Given the description of an element on the screen output the (x, y) to click on. 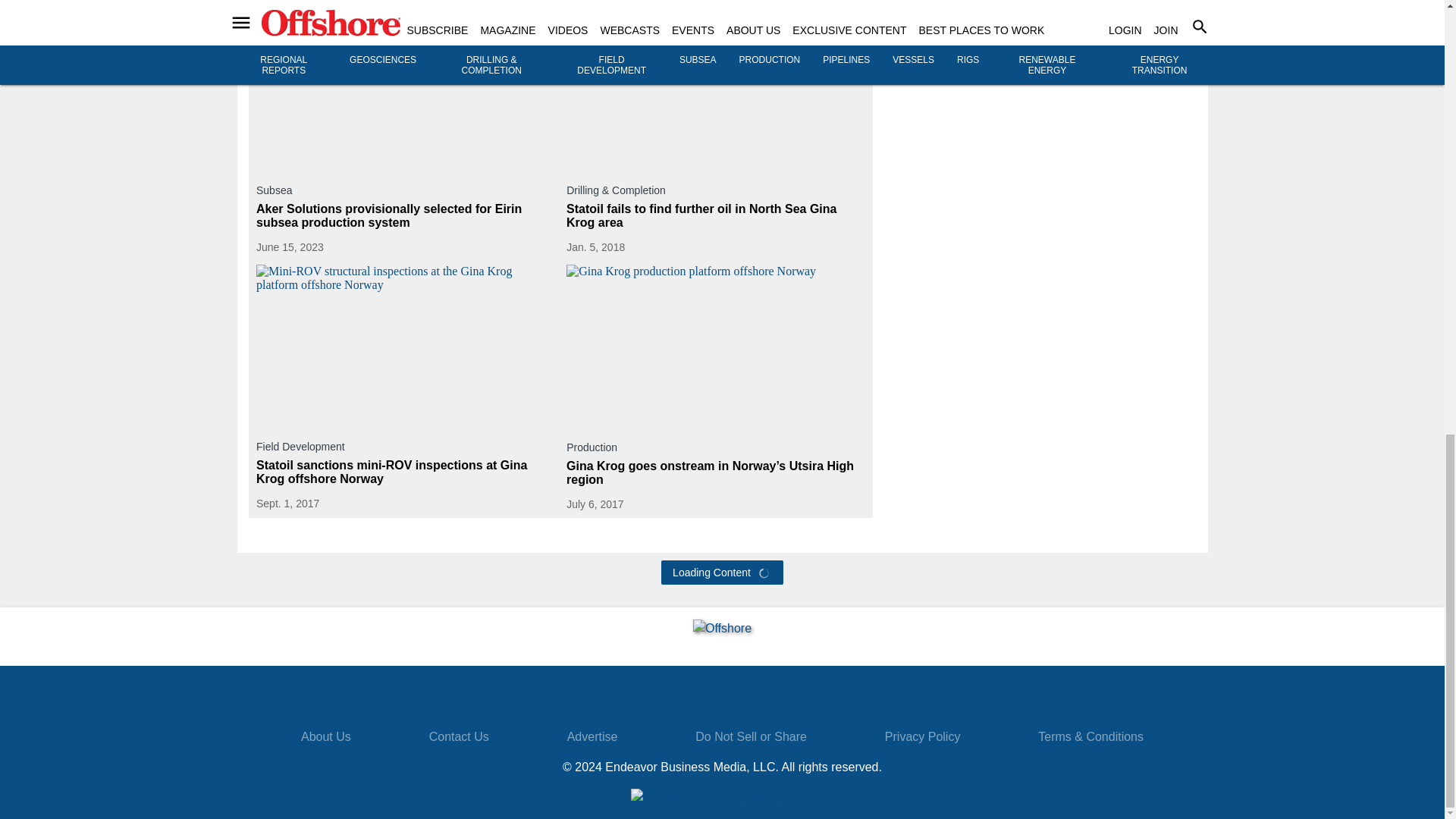
Gina Krog production platform offshore Norway (715, 348)
Aker Solutions Eirin Subsea System (405, 91)
Forties Field (1137, 30)
